Given the description of an element on the screen output the (x, y) to click on. 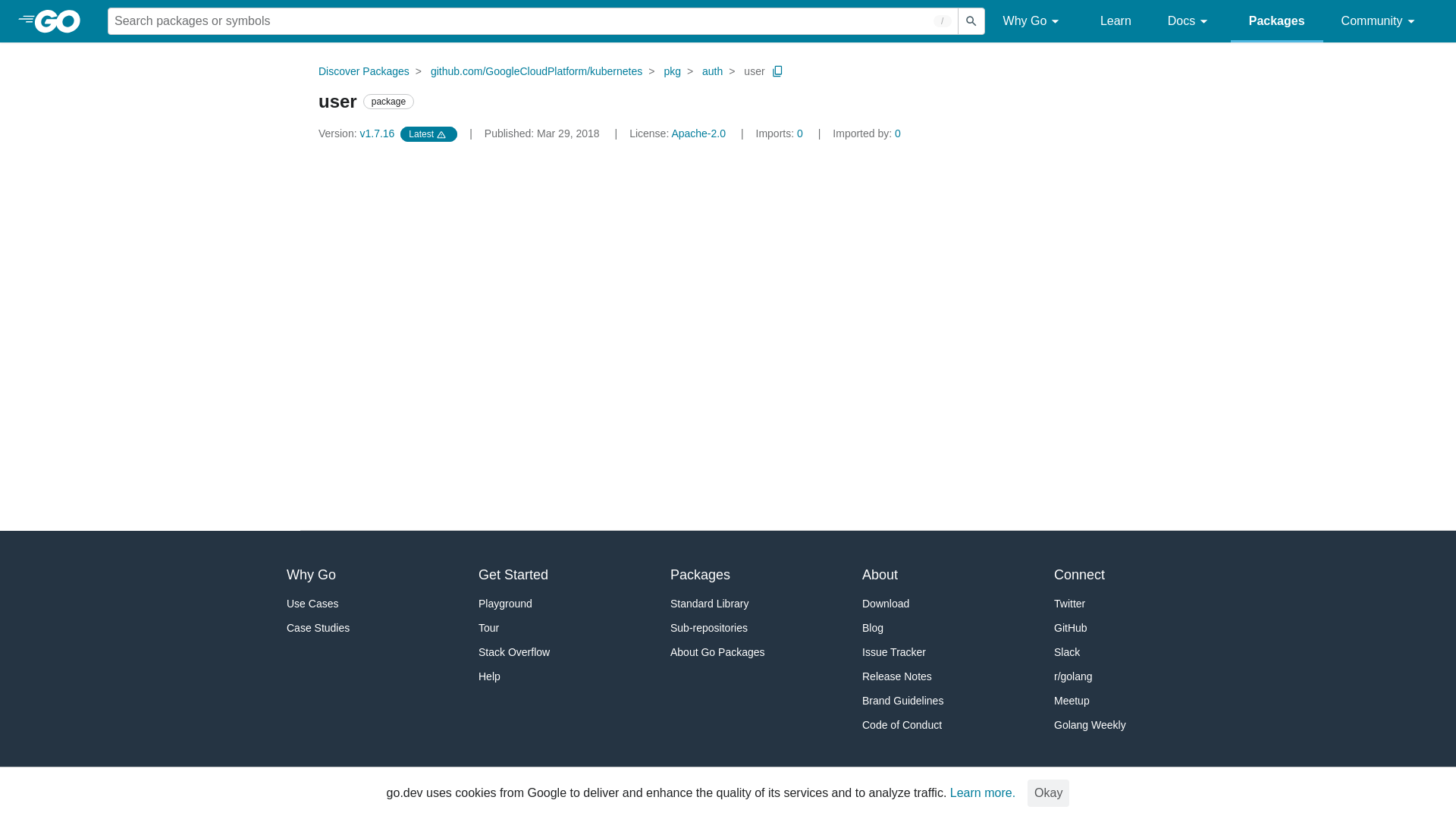
doc.go (342, 272)
Learn (1115, 21)
Docs (1190, 21)
Skip to Main Content (176, 19)
Community (1380, 21)
Why Go (1033, 21)
Packages (1276, 21)
